Given the description of an element on the screen output the (x, y) to click on. 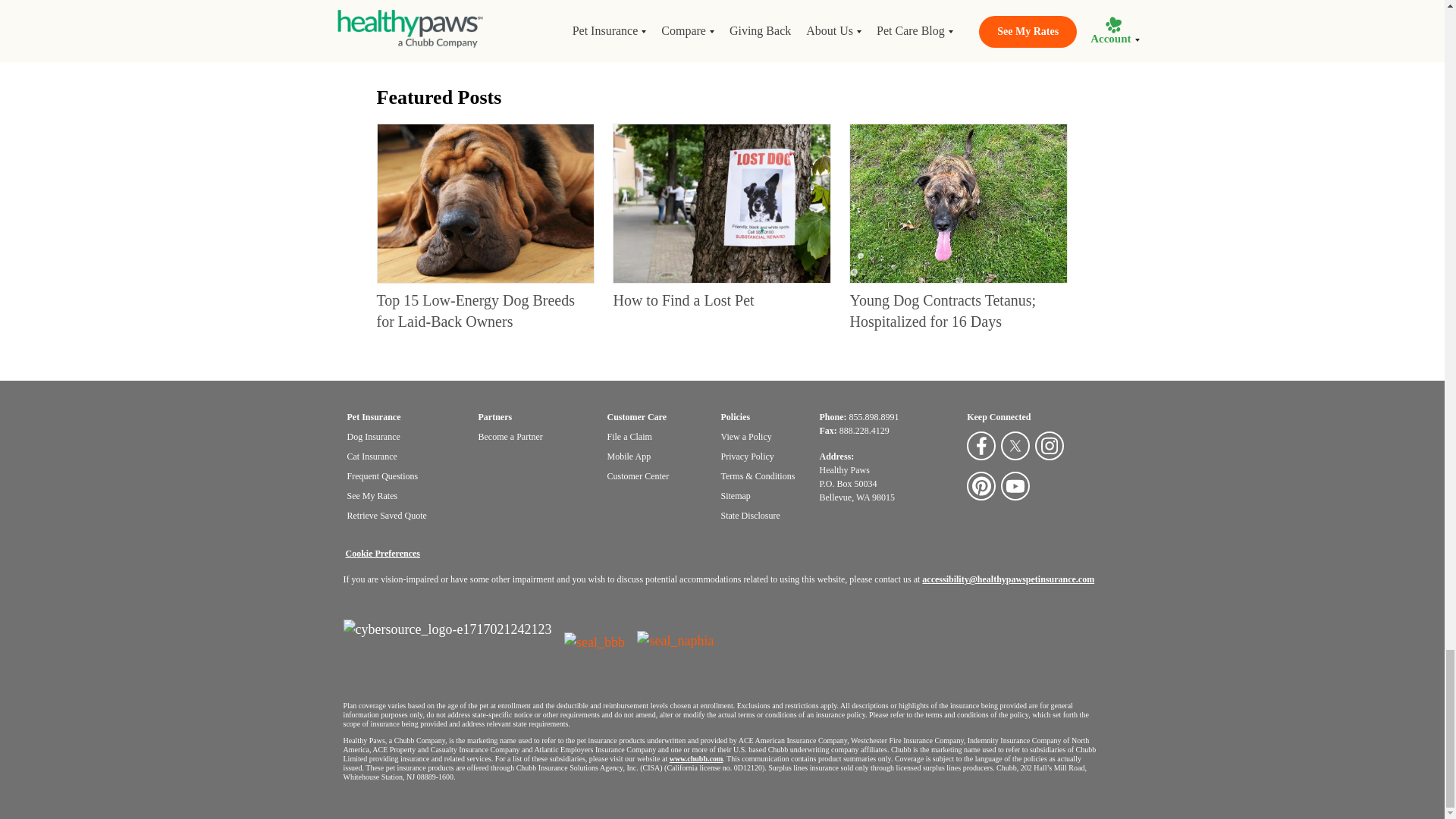
Top 15 Low-Energy Dog Breeds for Laid-Back Owners (485, 203)
Top 15 Low-Energy Dog Breeds for Laid-Back Owners (475, 310)
